Given the description of an element on the screen output the (x, y) to click on. 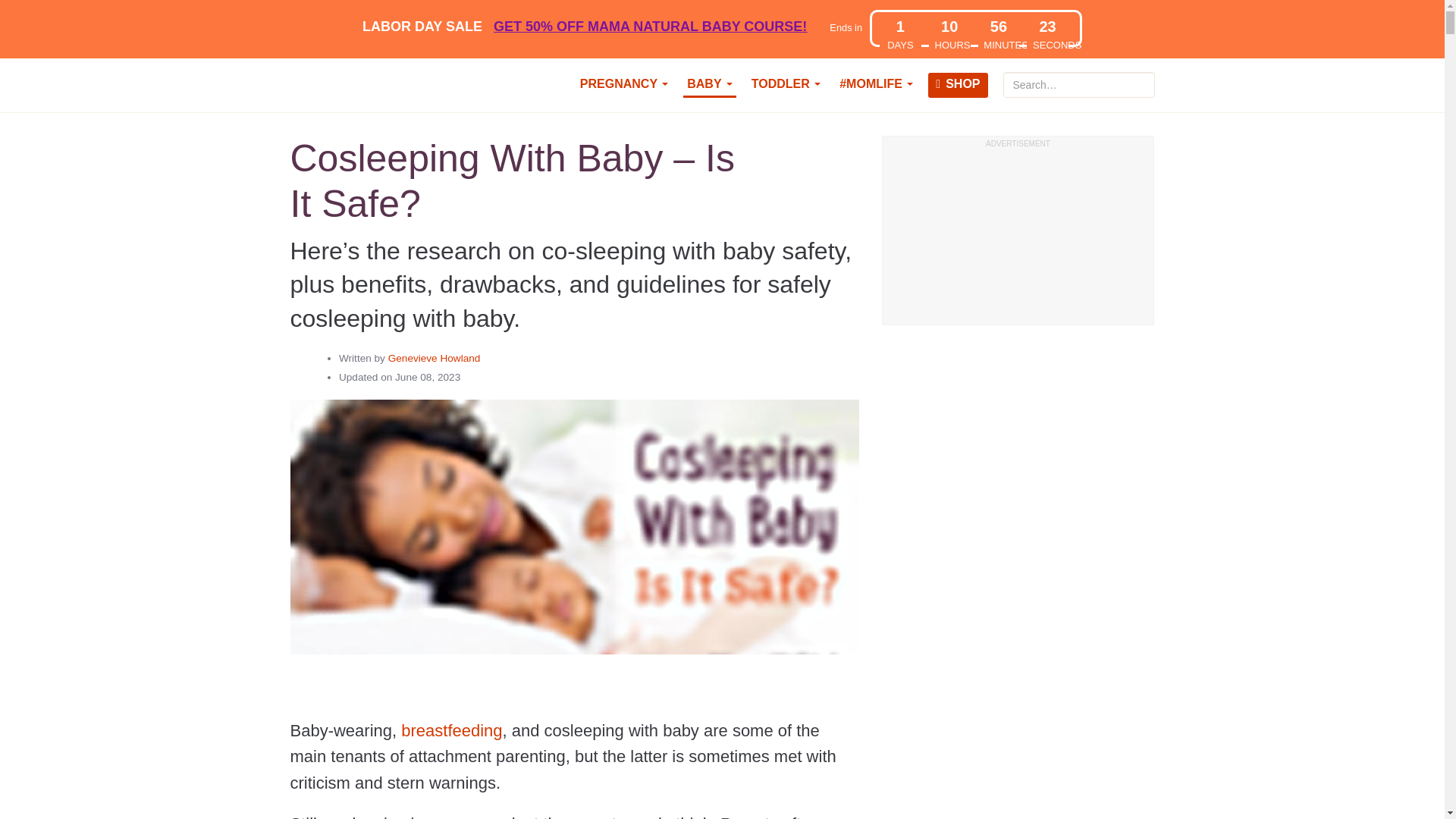
TODDLER (786, 84)
PREGNANCY (623, 84)
BABY (709, 84)
GO (1146, 78)
